Given the description of an element on the screen output the (x, y) to click on. 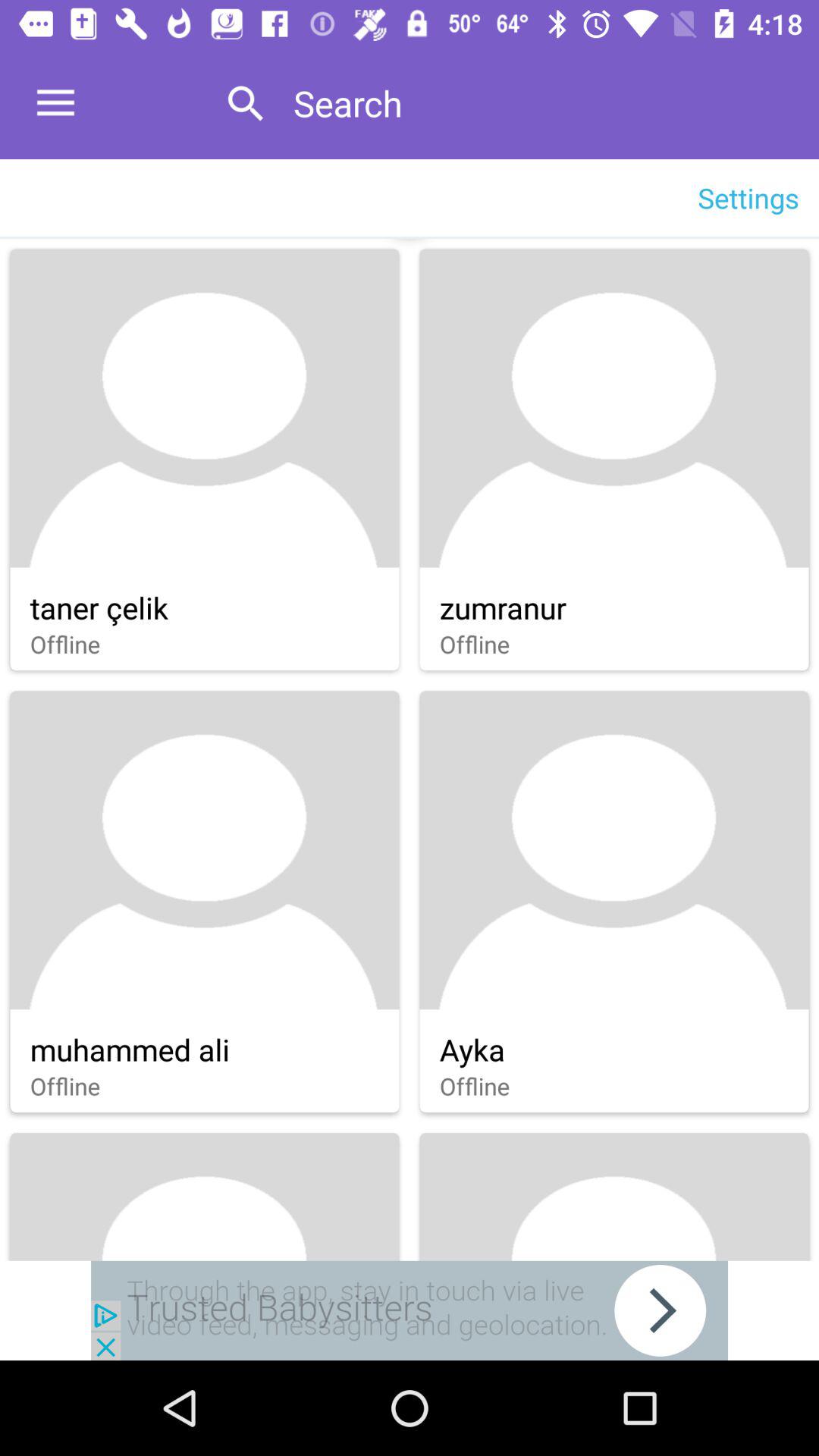
open an advertisements (409, 1310)
